Given the description of an element on the screen output the (x, y) to click on. 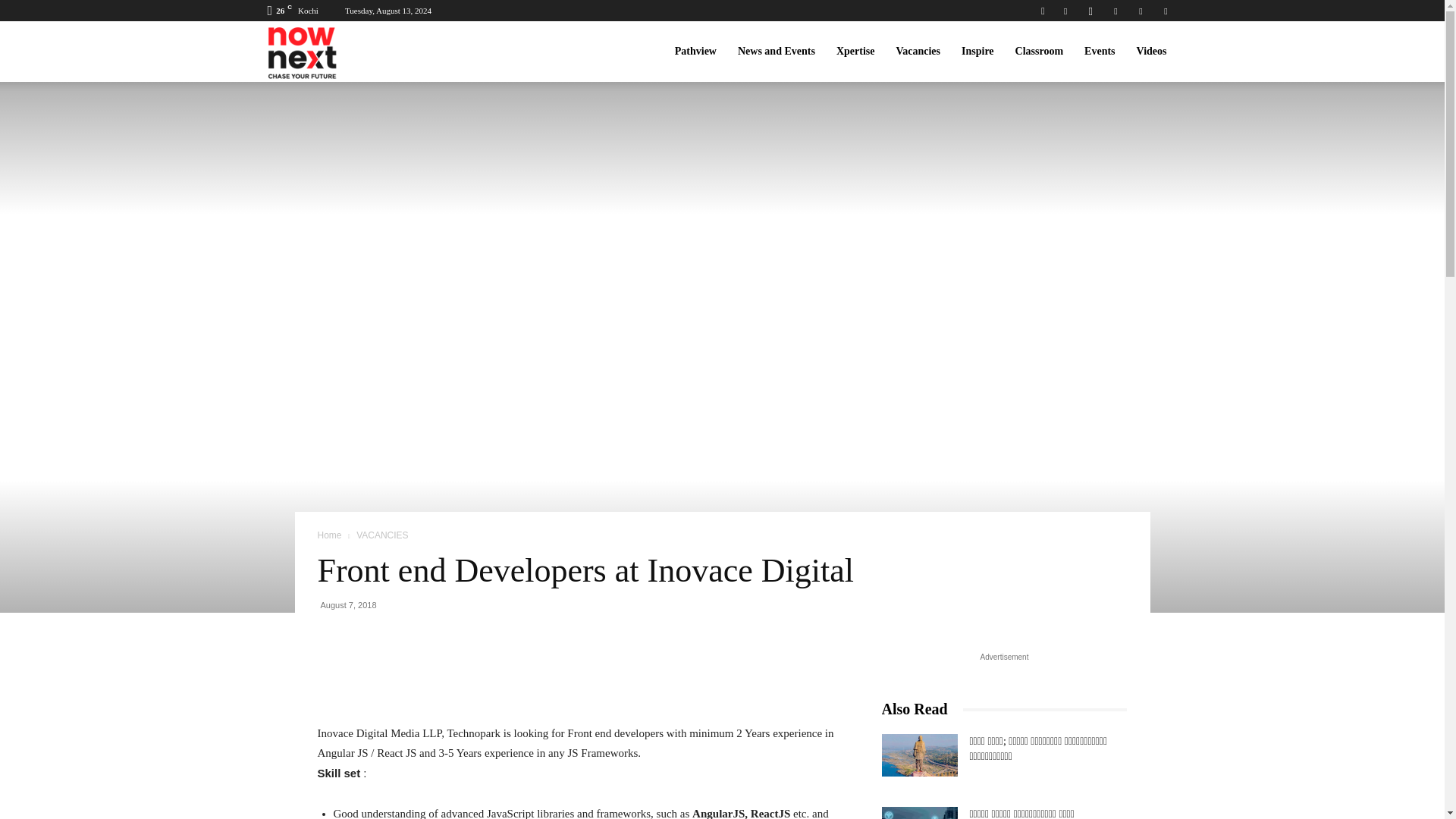
Facebook (1065, 10)
Xpertise (855, 51)
NowNext (309, 51)
Vacancies (917, 51)
Classroom (1039, 51)
Search (1134, 64)
NowNext (309, 52)
Twitter (1140, 10)
Youtube (1165, 10)
Instagram (1090, 10)
